Given the description of an element on the screen output the (x, y) to click on. 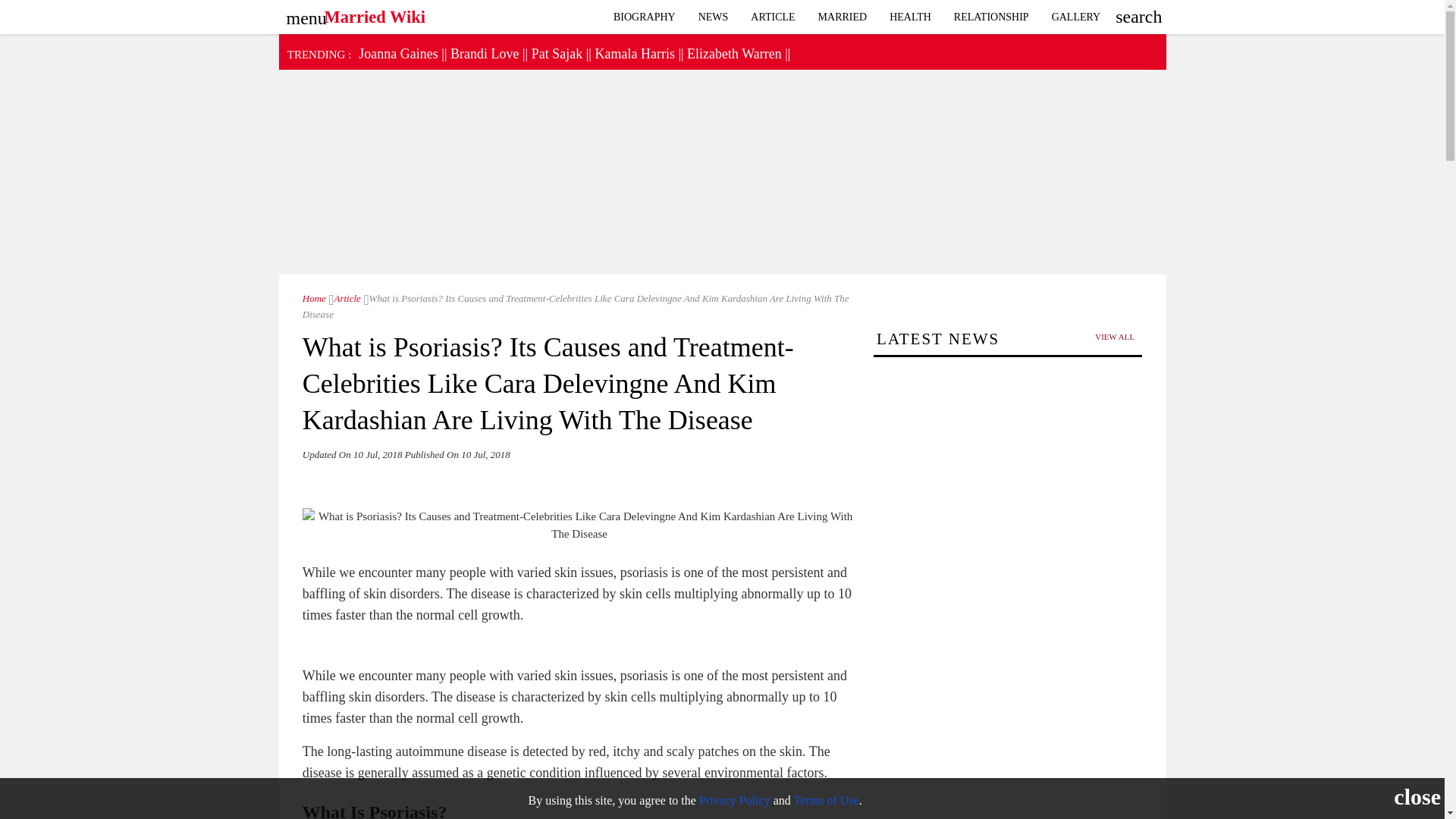
ARTICLE (772, 17)
Married Wiki (375, 13)
Relationship (991, 17)
Pat Sajak (557, 53)
married (842, 17)
RELATIONSHIP (991, 17)
Biography (644, 17)
HEALTH (909, 17)
Article (345, 297)
Pat Sajak (557, 53)
Married Wiki (314, 297)
Privacy Policy (734, 799)
Joanna Gaines (398, 53)
Home (314, 297)
relationship (1076, 17)
